Given the description of an element on the screen output the (x, y) to click on. 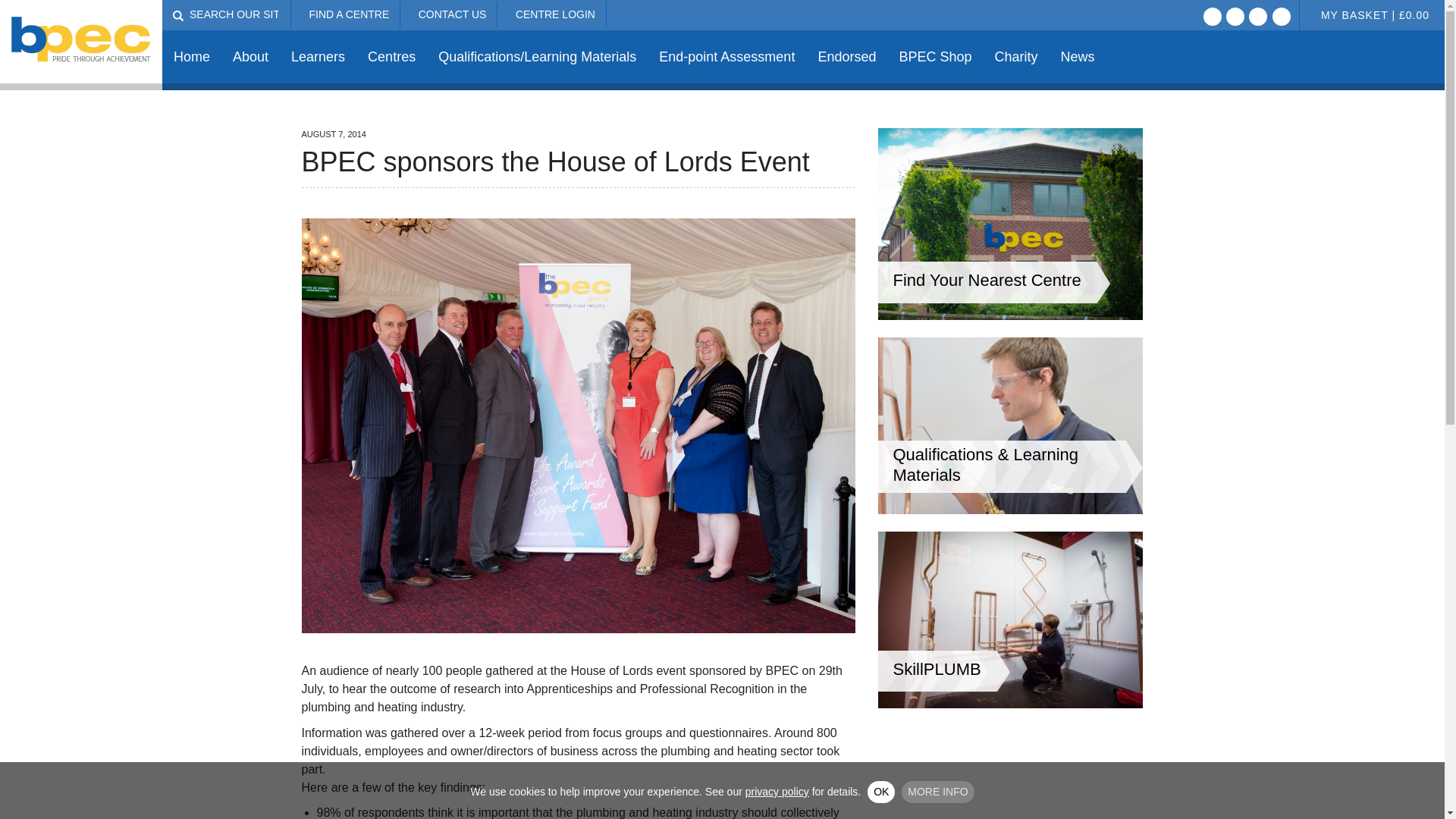
SkillPLUMB (1009, 703)
Find Your Nearest Centre (1009, 315)
Search (178, 15)
